Given the description of an element on the screen output the (x, y) to click on. 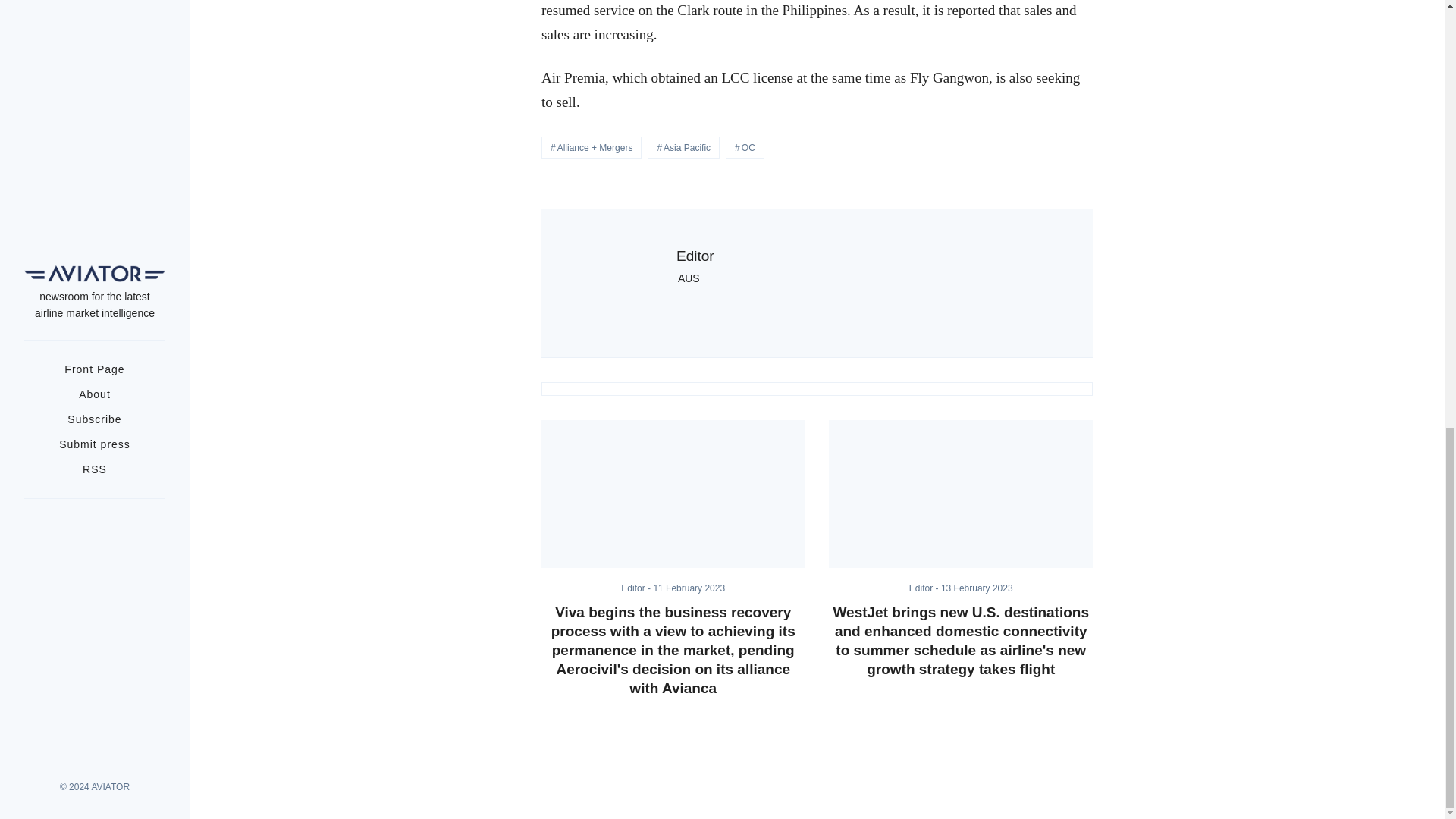
Editor (695, 255)
Share on Facebook (954, 388)
Share on Twitter (678, 388)
Editor - (636, 588)
Editor - (924, 588)
